Given the description of an element on the screen output the (x, y) to click on. 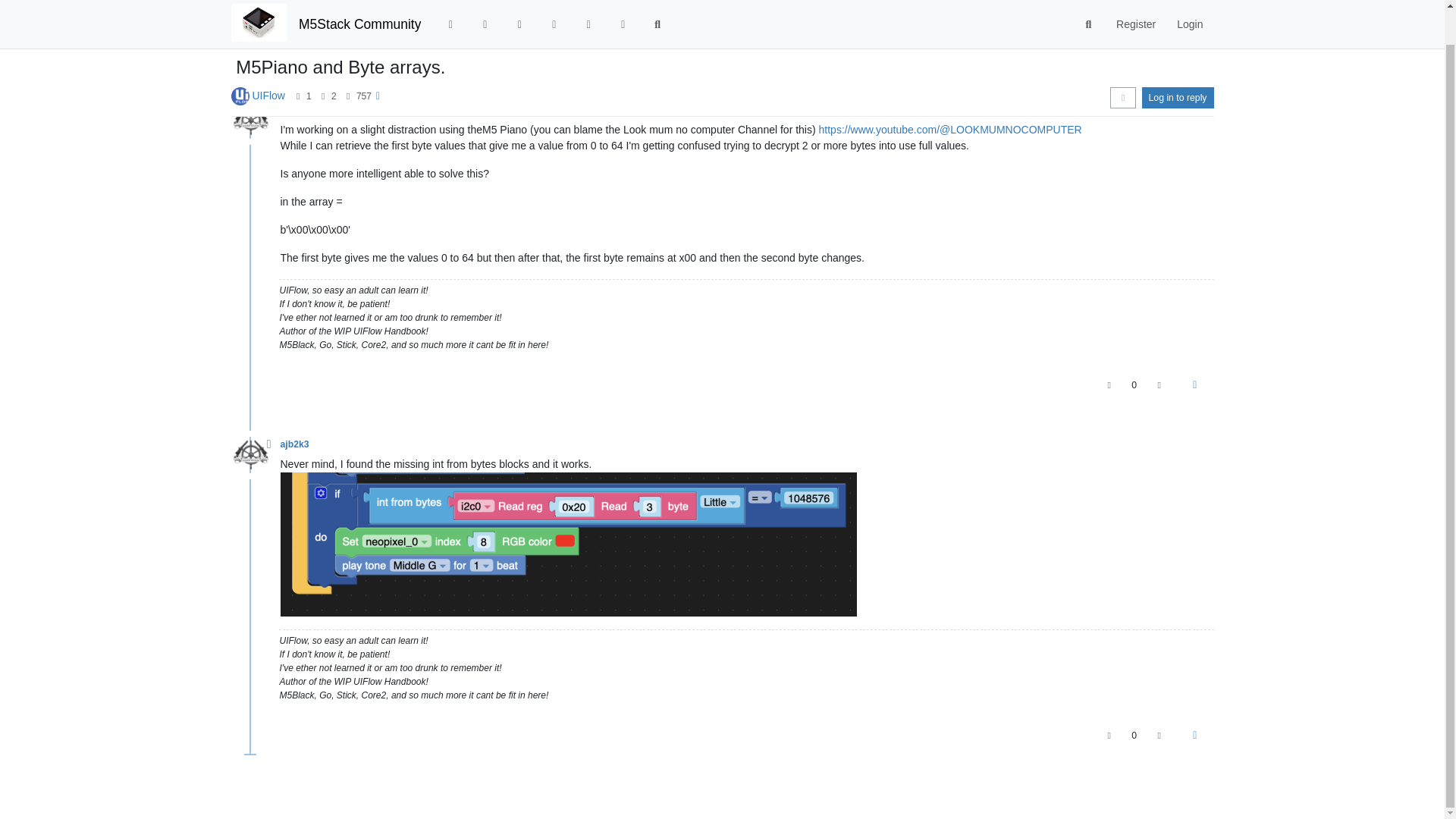
ajb2k3 (294, 109)
Posters (298, 71)
Register (1135, 1)
Search (657, 1)
Groups (622, 1)
Categories (449, 1)
Log in to reply (1177, 74)
Popular (554, 1)
Users (587, 1)
Tags (519, 1)
Views (347, 71)
M5Stack Community (359, 1)
UIFlow (268, 71)
Login (1189, 1)
Recent (484, 1)
